Given the description of an element on the screen output the (x, y) to click on. 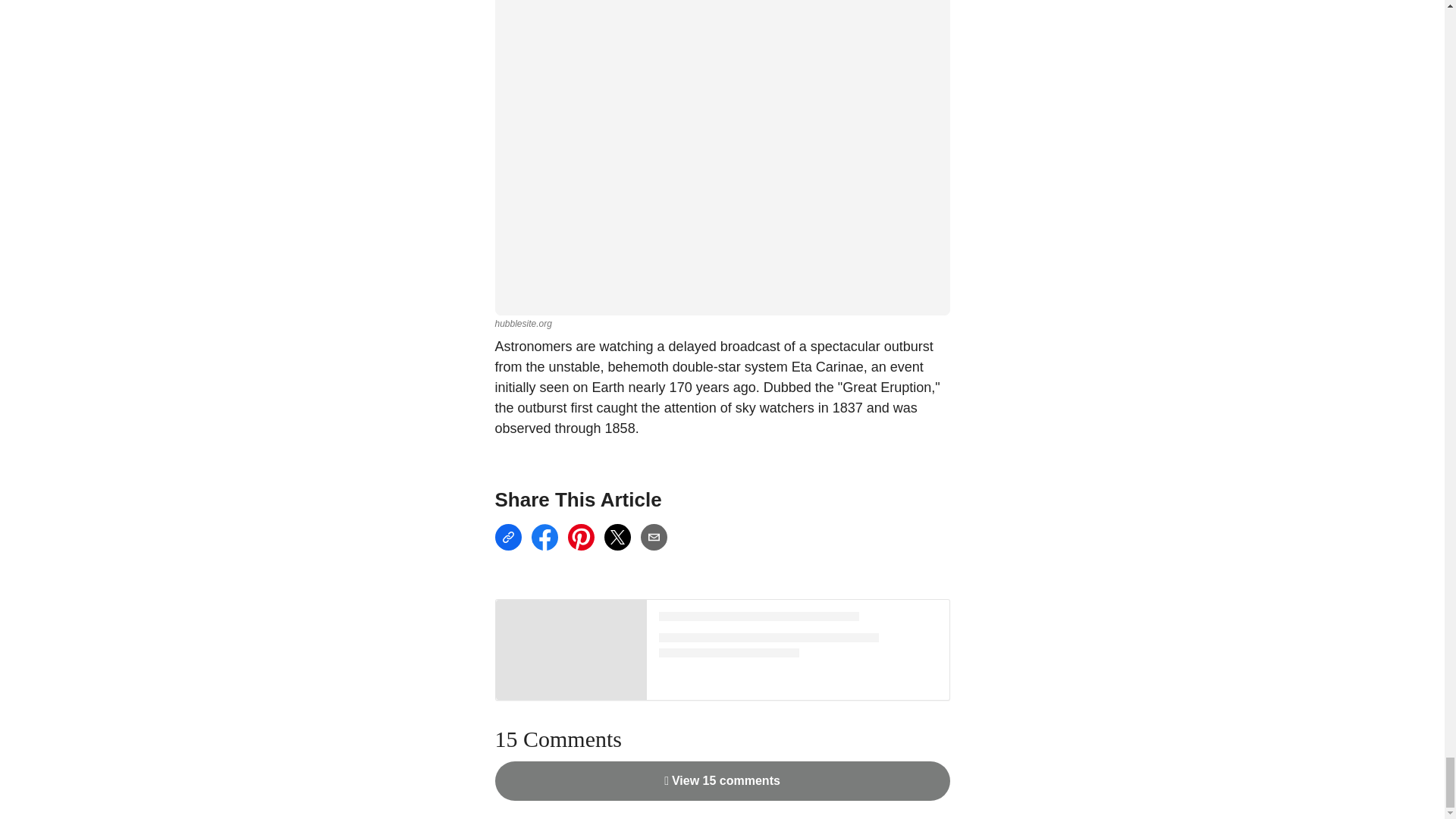
Link (507, 536)
Facebook (544, 537)
Twitter (617, 536)
Pinterest (580, 537)
Mail (653, 536)
